Given the description of an element on the screen output the (x, y) to click on. 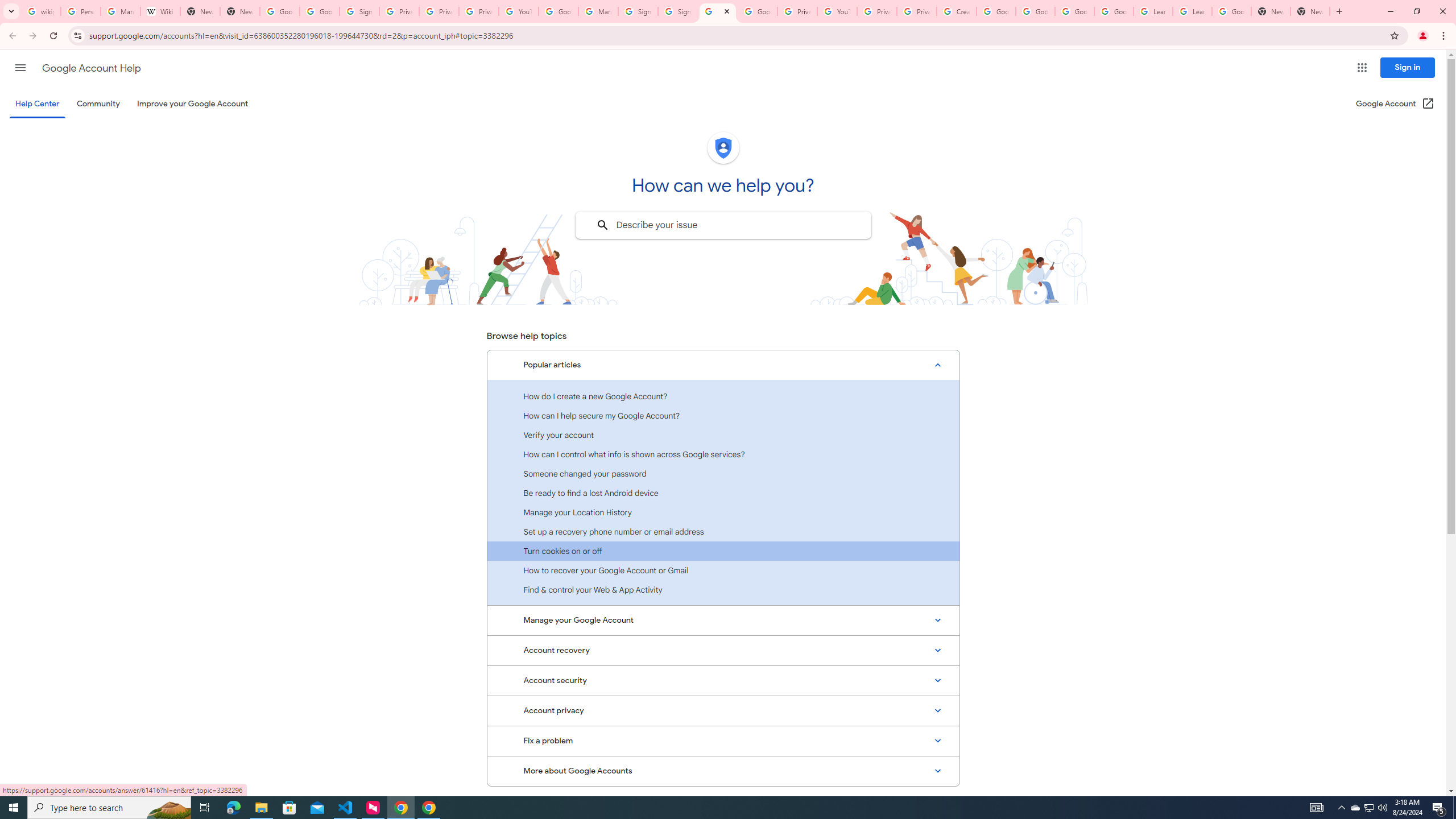
More about Google Accounts (722, 771)
Turn cookies on or off (722, 551)
Someone changed your password (722, 473)
Help Center (36, 103)
Create your Google Account (956, 11)
